Given the description of an element on the screen output the (x, y) to click on. 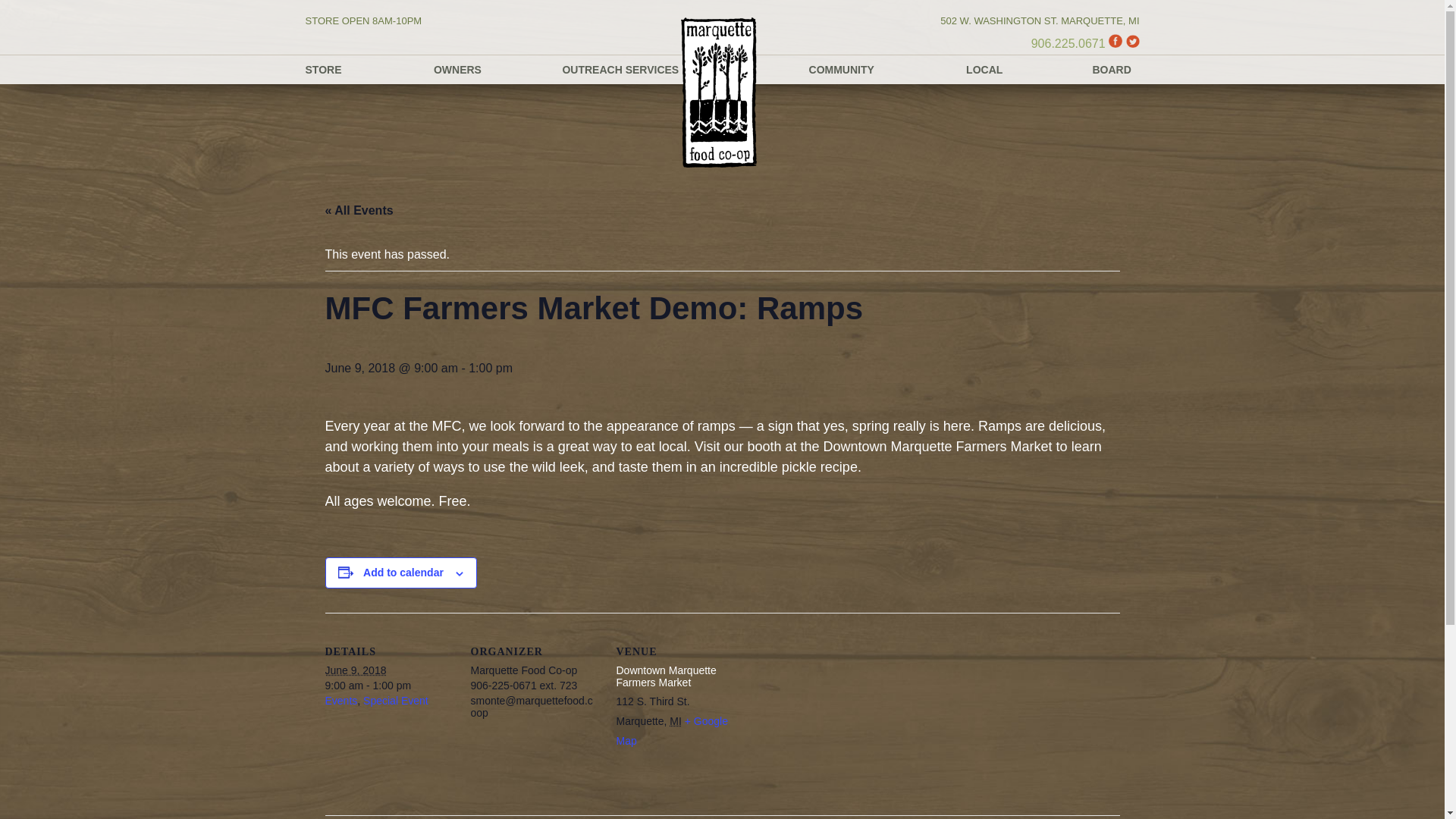
2018-06-09 (354, 670)
Click to view a Google Map (671, 730)
Michigan (675, 720)
STORE (322, 69)
LOCAL (984, 69)
2018-06-09 (387, 685)
BOARD (1111, 69)
COMMUNITY (842, 69)
OWNERS (457, 69)
OUTREACH SERVICES (620, 69)
